Given the description of an element on the screen output the (x, y) to click on. 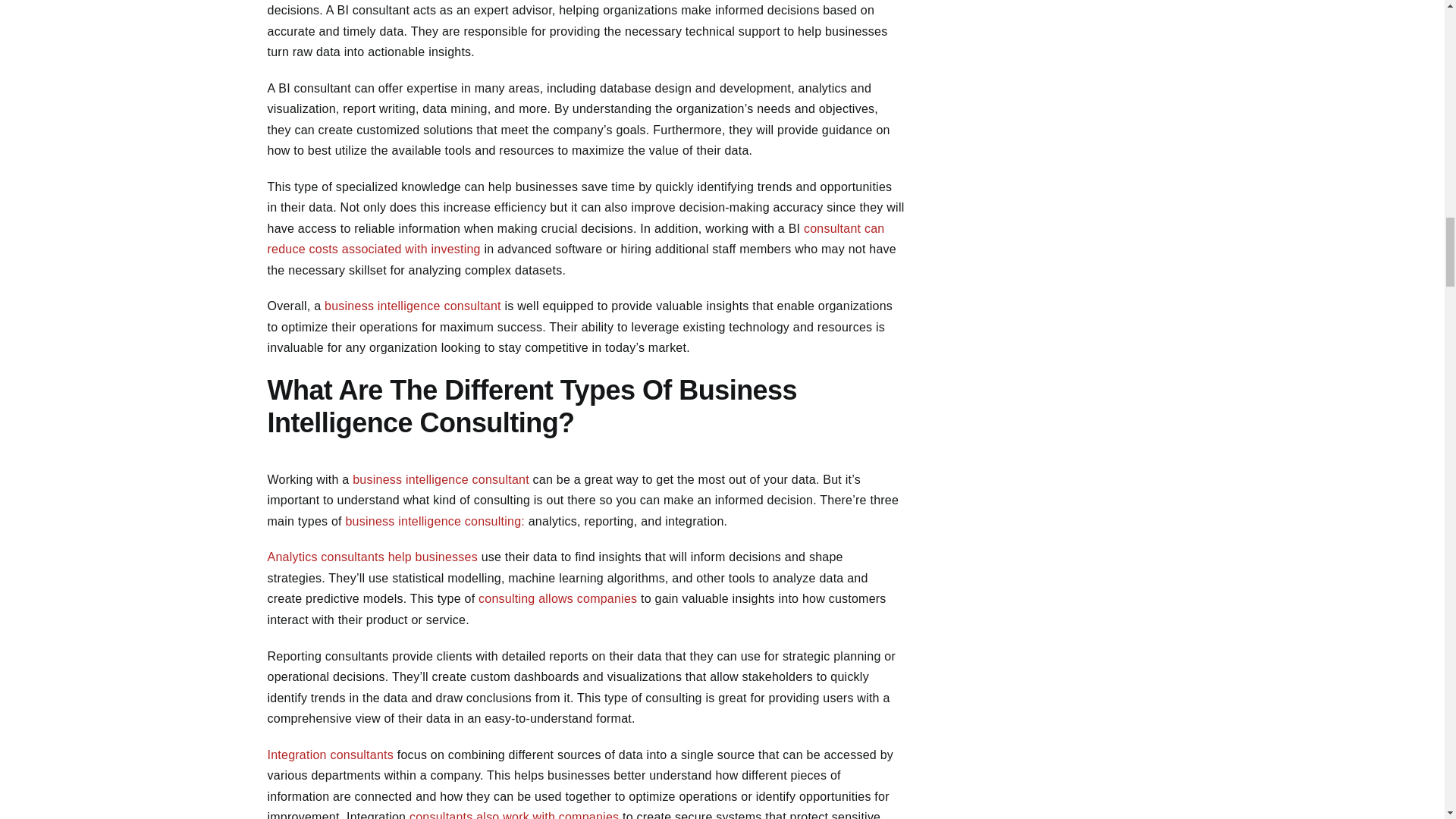
Analytics consultants help businesses (371, 556)
business intelligence consultant (440, 479)
business intelligence consulting: (434, 521)
consulting allows companies (558, 598)
consultant can reduce costs associated with investing (574, 238)
business intelligence consultant (412, 305)
Integration consultants (329, 754)
